Given the description of an element on the screen output the (x, y) to click on. 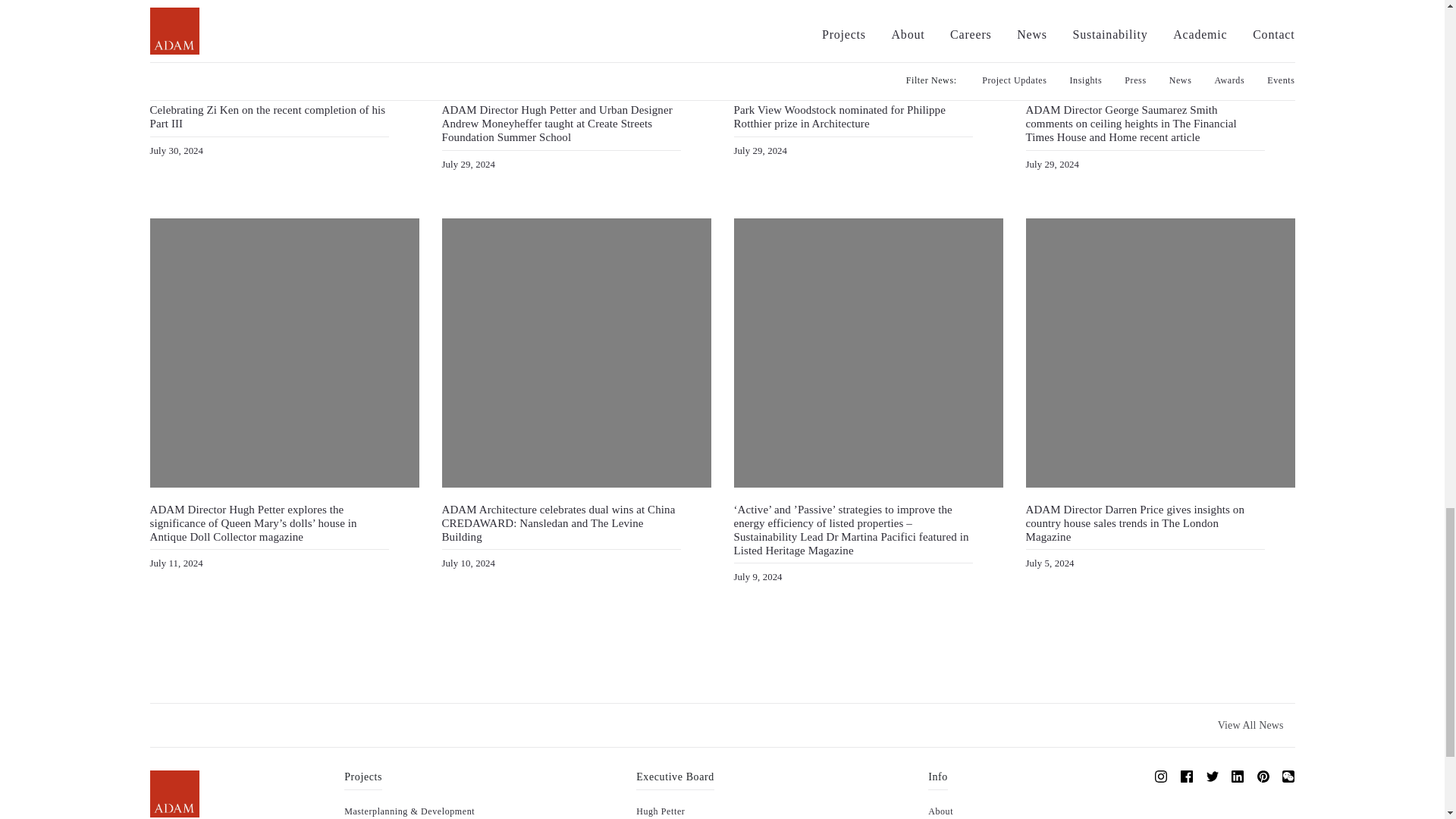
View All News (1251, 724)
Hugh Petter (660, 810)
